Given the description of an element on the screen output the (x, y) to click on. 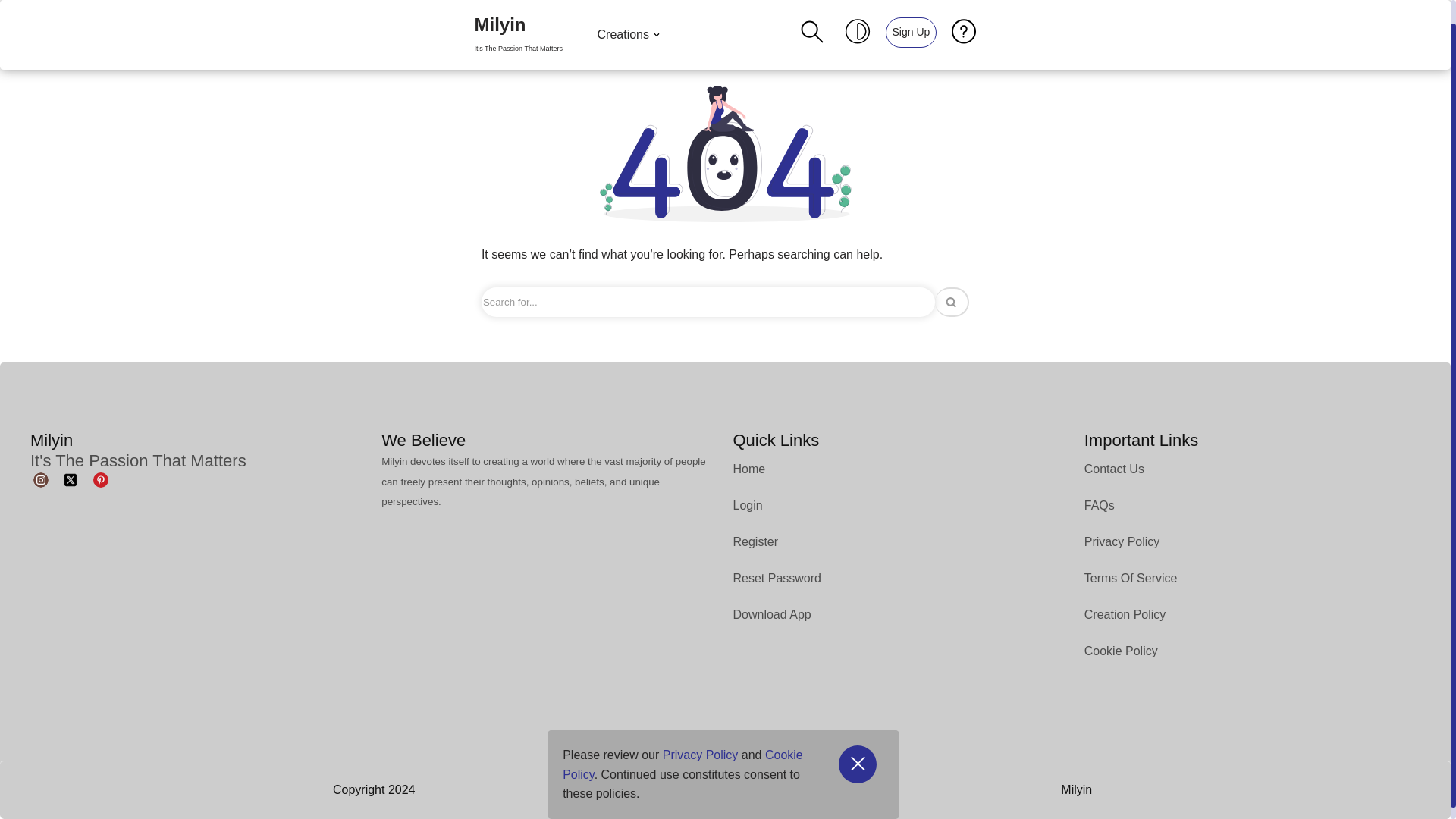
Skip to content (11, 18)
Milyin (518, 22)
Sign Up (910, 19)
Sign Up (911, 19)
Creations (518, 22)
